Given the description of an element on the screen output the (x, y) to click on. 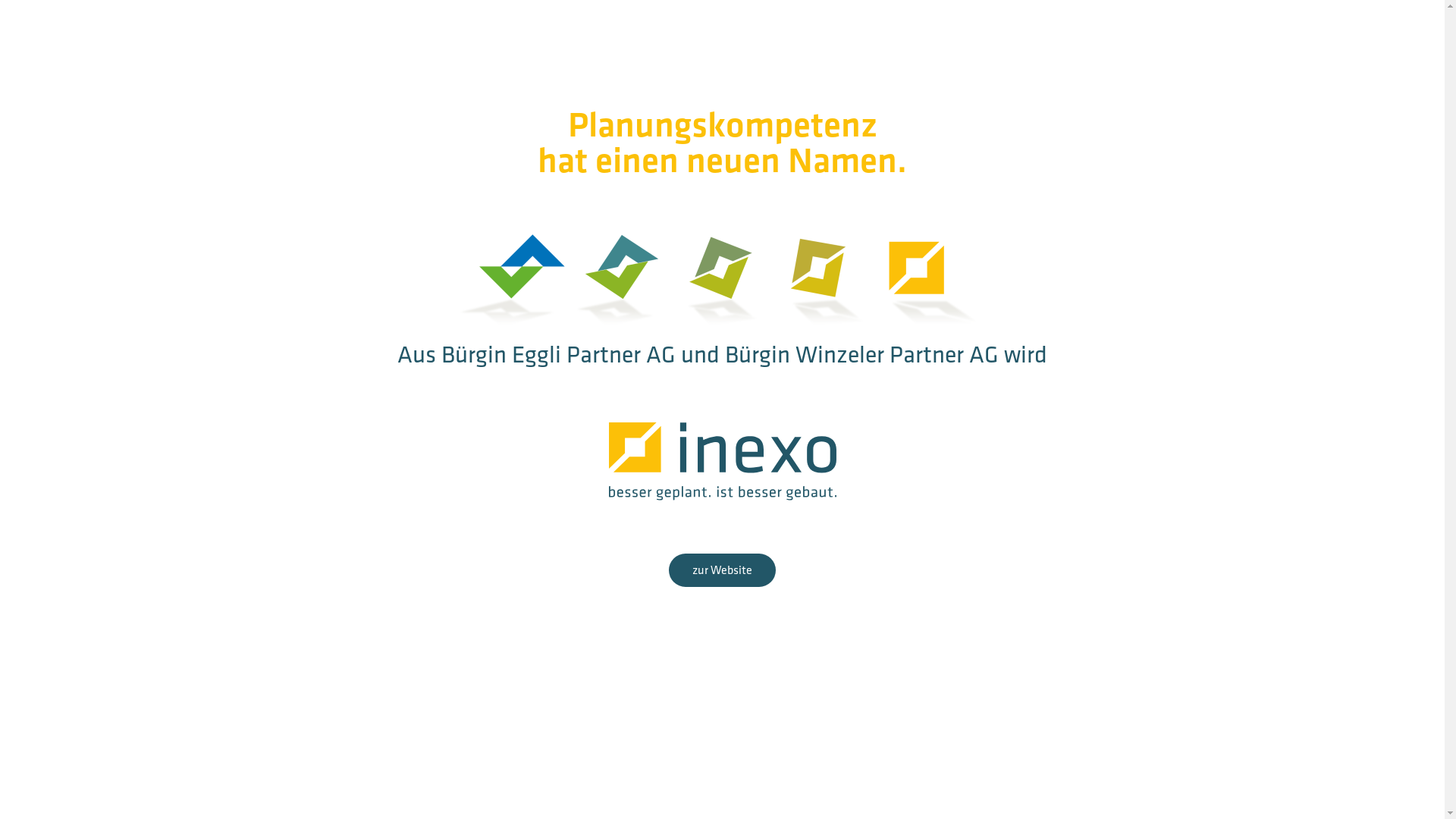
zur Website Element type: text (721, 569)
